Given the description of an element on the screen output the (x, y) to click on. 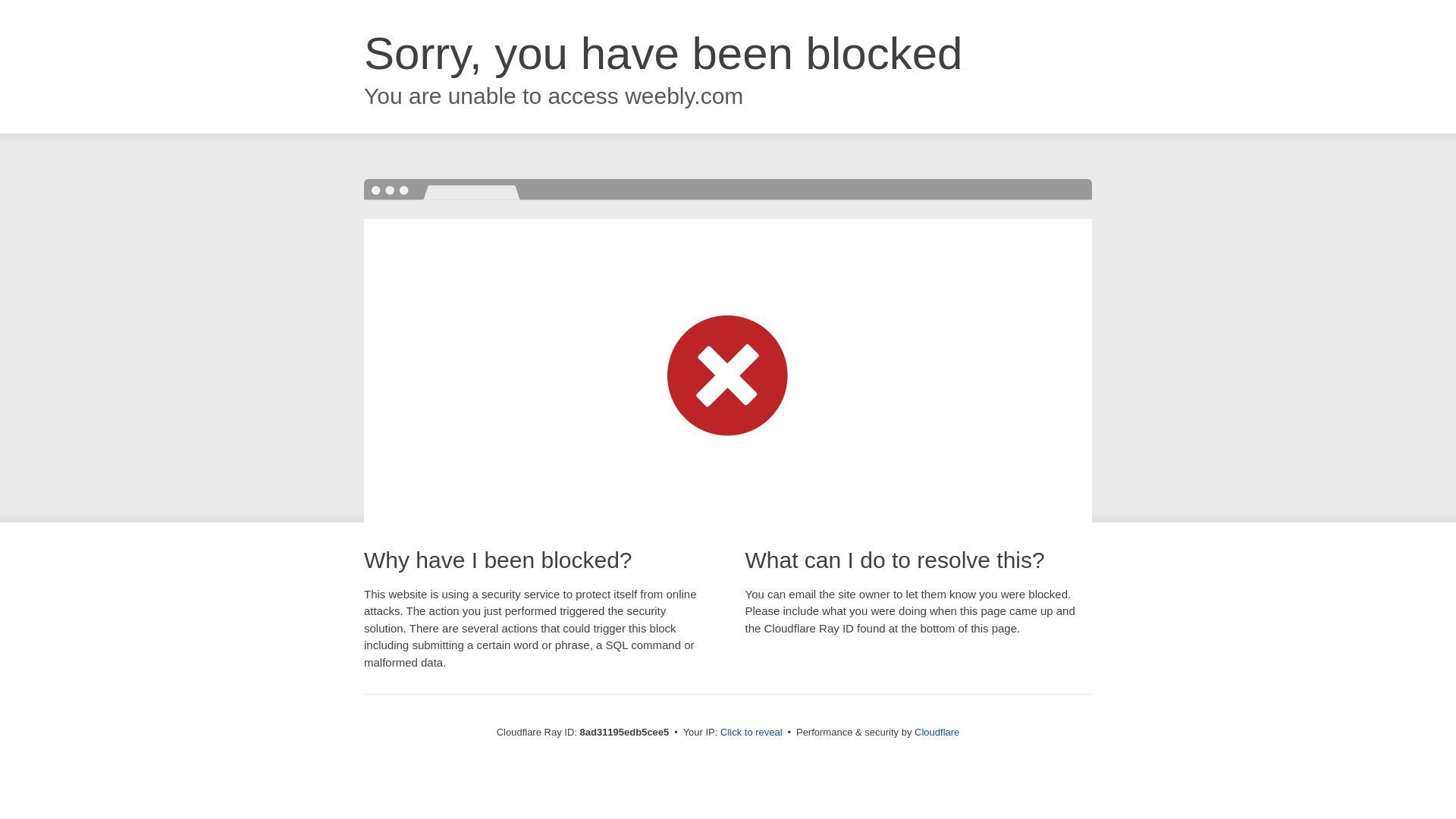
Cloudflare (936, 731)
Click to reveal (751, 732)
